Given the description of an element on the screen output the (x, y) to click on. 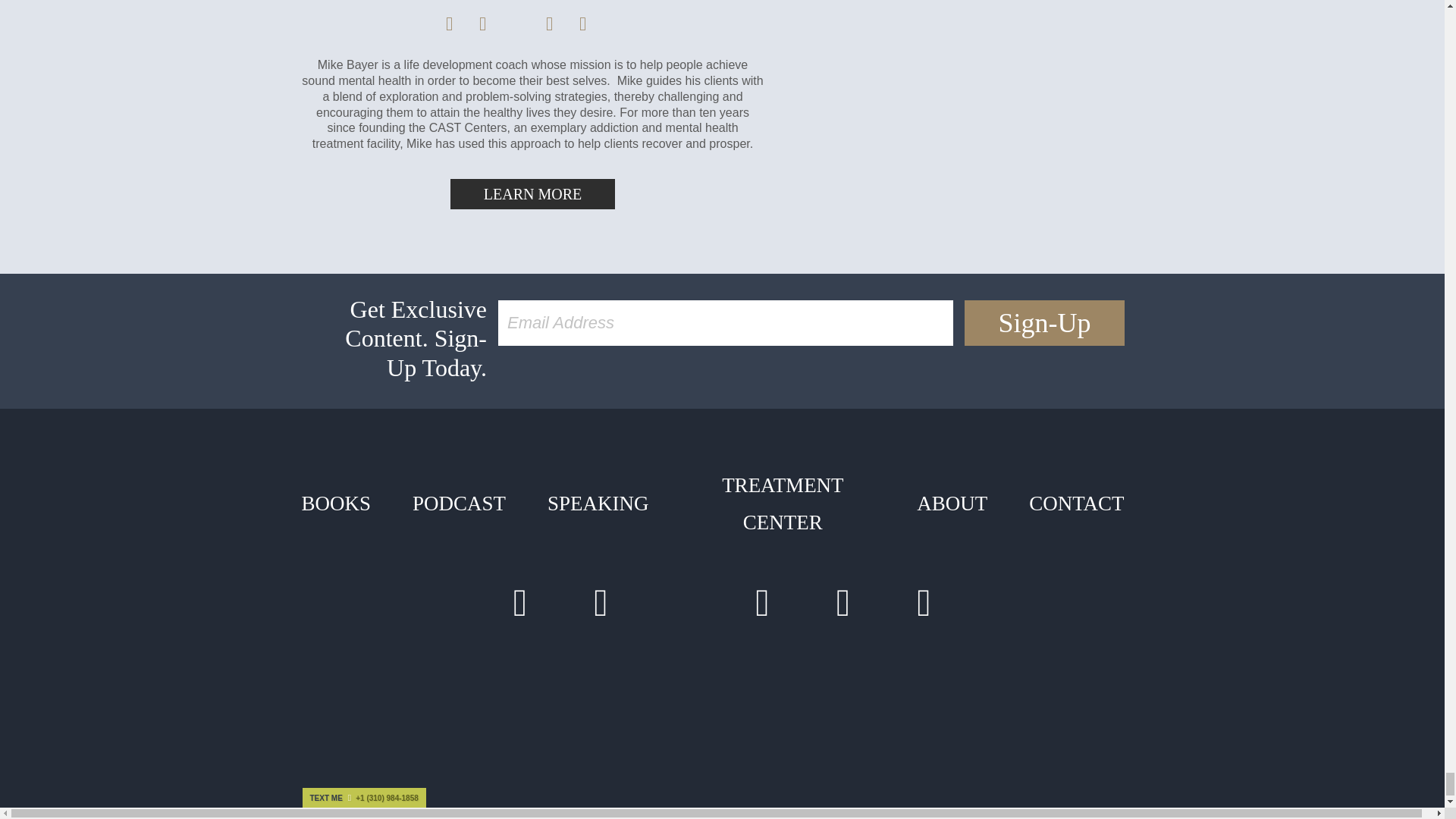
Sign-Up (1043, 322)
PODCAST (458, 503)
LEARN MORE (531, 194)
BOOKS (335, 503)
SPEAKING (598, 503)
